Given the description of an element on the screen output the (x, y) to click on. 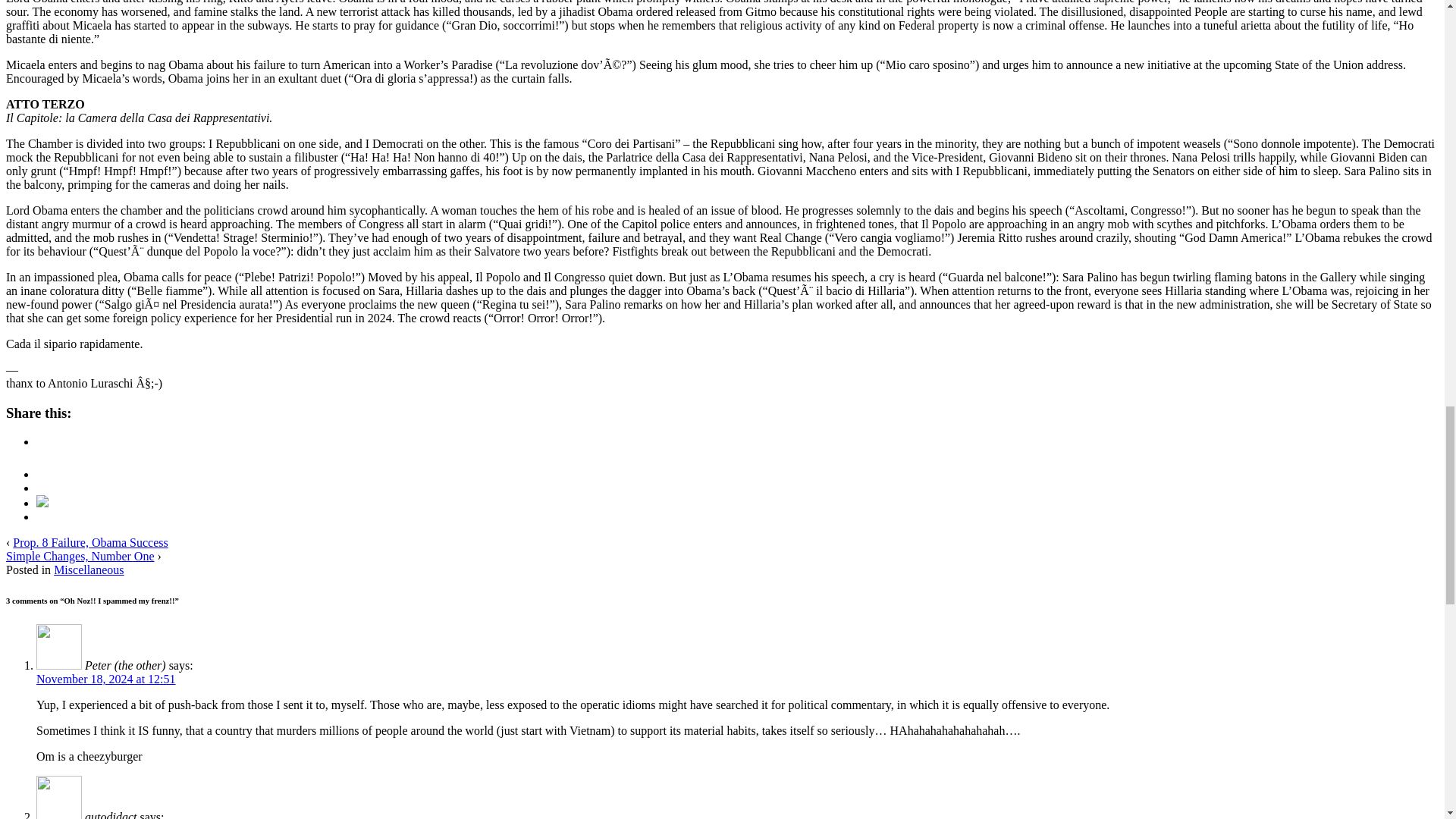
Simple Changes, Number One (79, 555)
November 18, 2024 at 12:51 (106, 678)
Miscellaneous (88, 569)
Prop. 8 Failure, Obama Success (90, 542)
